Given the description of an element on the screen output the (x, y) to click on. 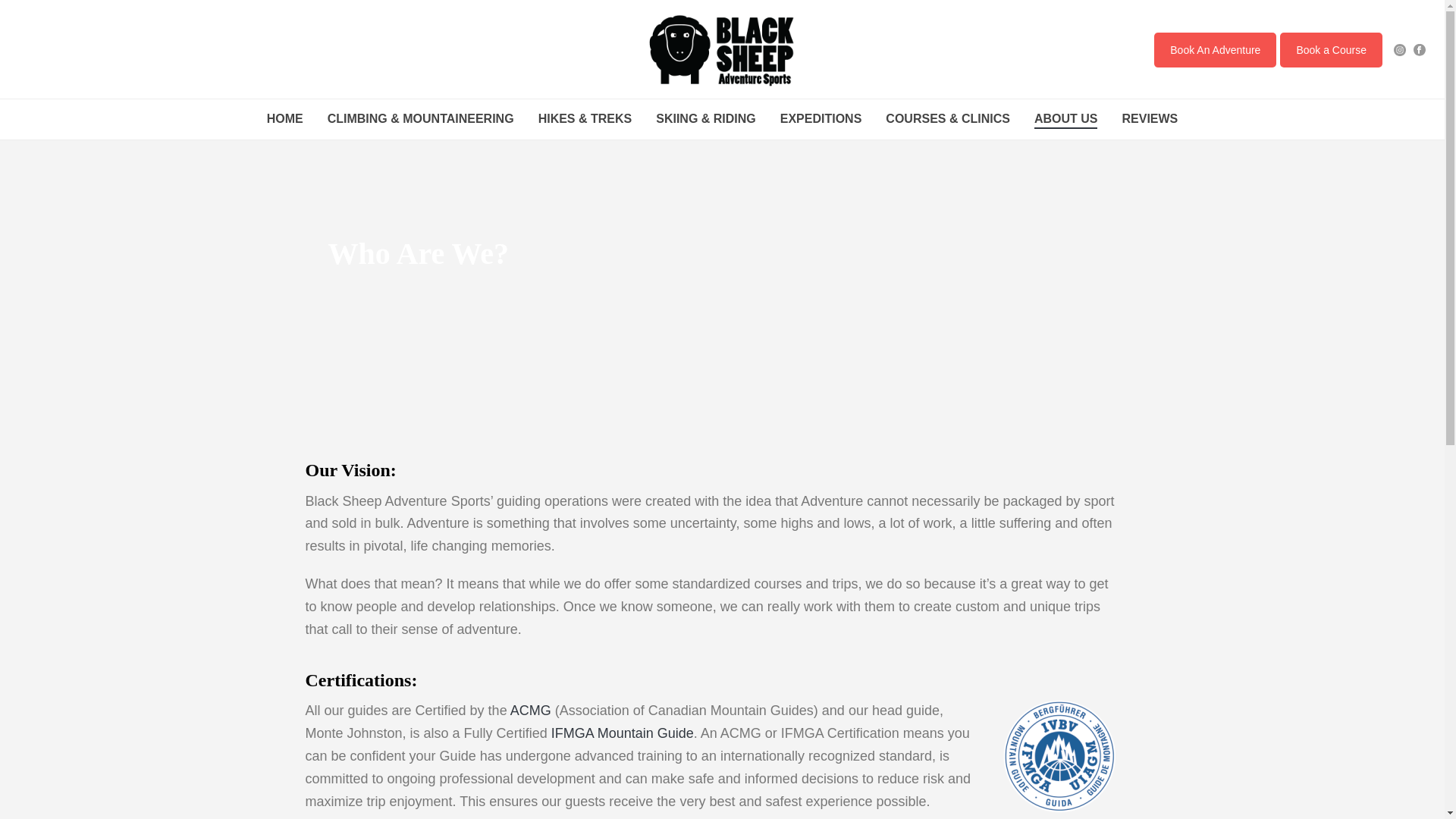
COURSES & CLINICS Element type: text (947, 119)
HOME Element type: text (284, 119)
EXPEDITIONS Element type: text (821, 119)
Book An Adventure Element type: text (1215, 49)
HIKES & TREKS Element type: text (585, 119)
ABOUT US Element type: text (1066, 119)
IFMGA Mountain Guide Element type: text (622, 732)
SKIING & RIDING Element type: text (705, 119)
ACMG Element type: text (530, 710)
CLIMBING & MOUNTAINEERING Element type: text (420, 119)
Black Sheep Adventure Tours Element type: hover (721, 49)
Book a Course Element type: text (1331, 49)
REVIEWS Element type: text (1149, 119)
